Given the description of an element on the screen output the (x, y) to click on. 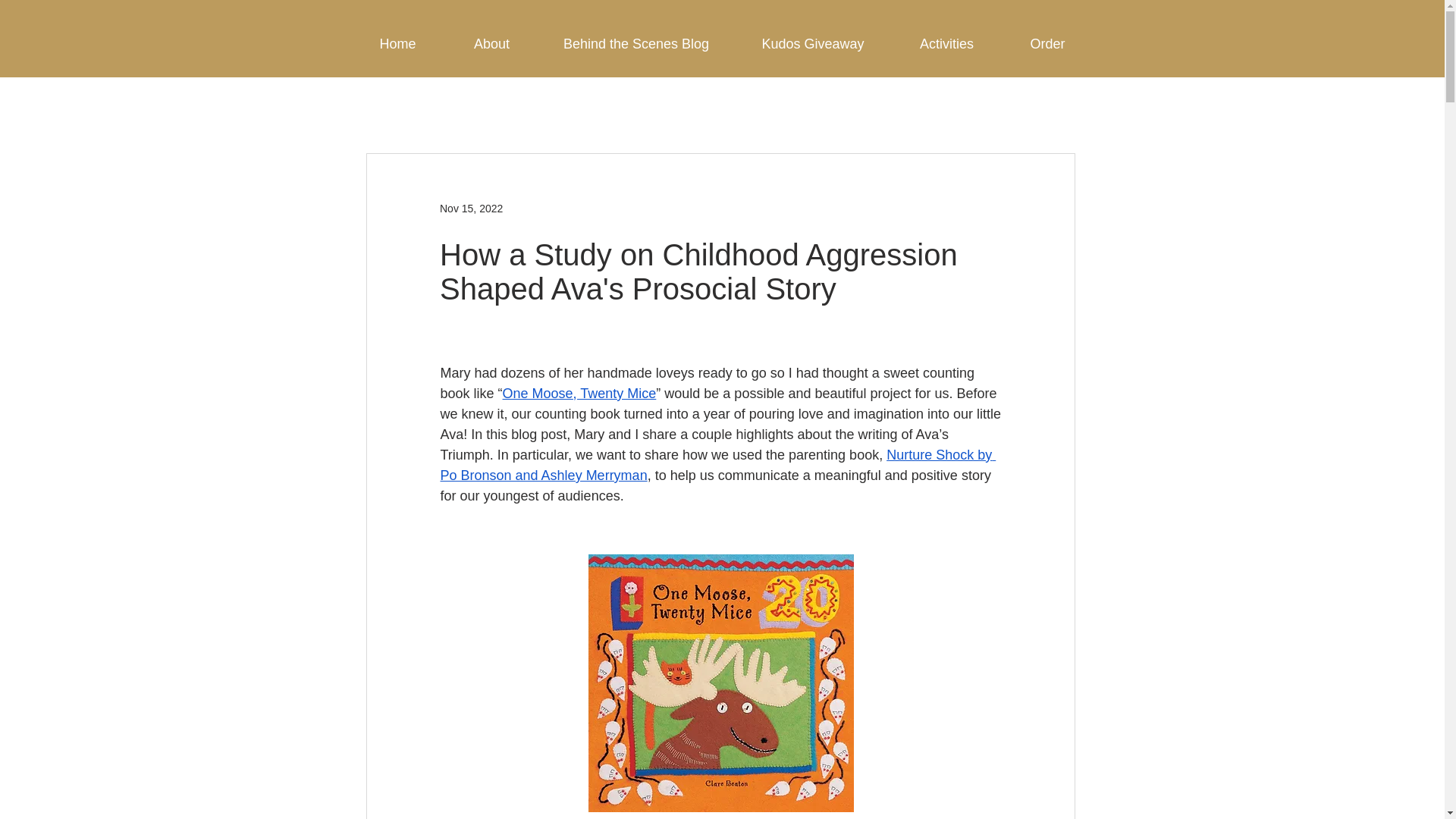
One Moose, Twenty Mice (579, 393)
Nov 15, 2022 (470, 207)
Nurture Shock by Po Bronson and Ashley Merryman (717, 465)
Home (397, 44)
Behind the Scenes Blog (635, 44)
About (491, 44)
Kudos Giveaway (812, 44)
Order (1047, 44)
Activities (946, 44)
